Given the description of an element on the screen output the (x, y) to click on. 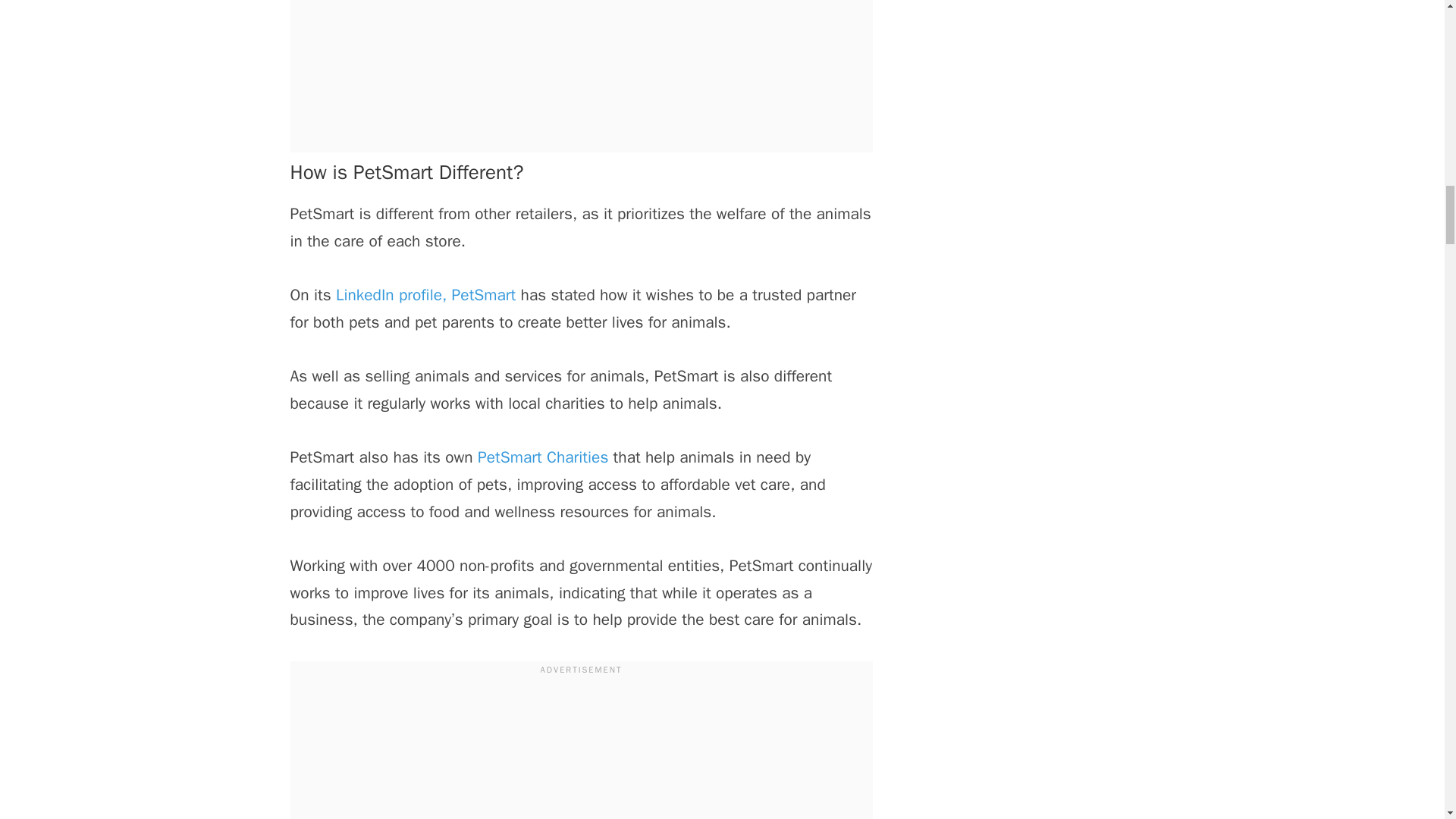
PetSmart Charities (542, 456)
LinkedIn profile, PetSmart (425, 294)
